Given the description of an element on the screen output the (x, y) to click on. 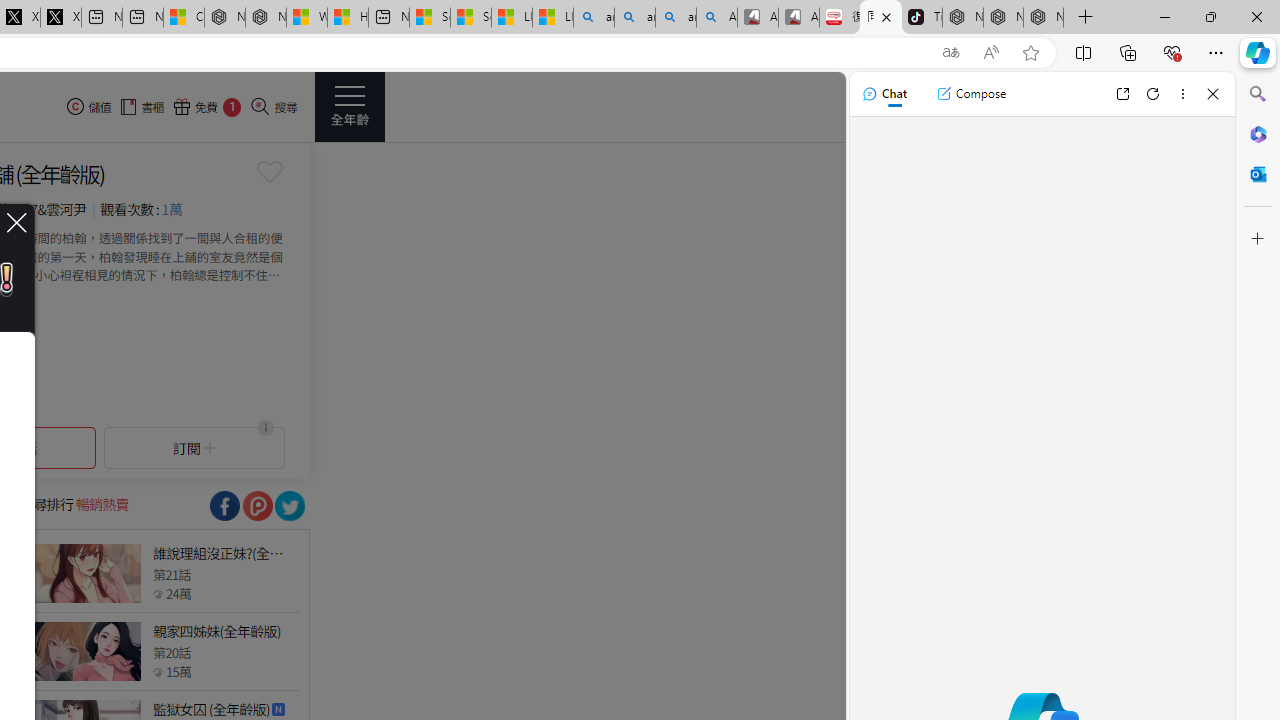
Settings and more (Alt+F) (1215, 52)
Customize (1258, 239)
Chat (884, 93)
Outlook (1258, 174)
Open link in new tab (1122, 93)
Split screen (1083, 52)
Wildlife - MSN (306, 17)
Collections (1128, 52)
Nordace - Best Sellers (963, 17)
Amazon Echo Robot - Search Images (717, 17)
New tab (388, 17)
amazon - Search Images (675, 17)
